Given the description of an element on the screen output the (x, y) to click on. 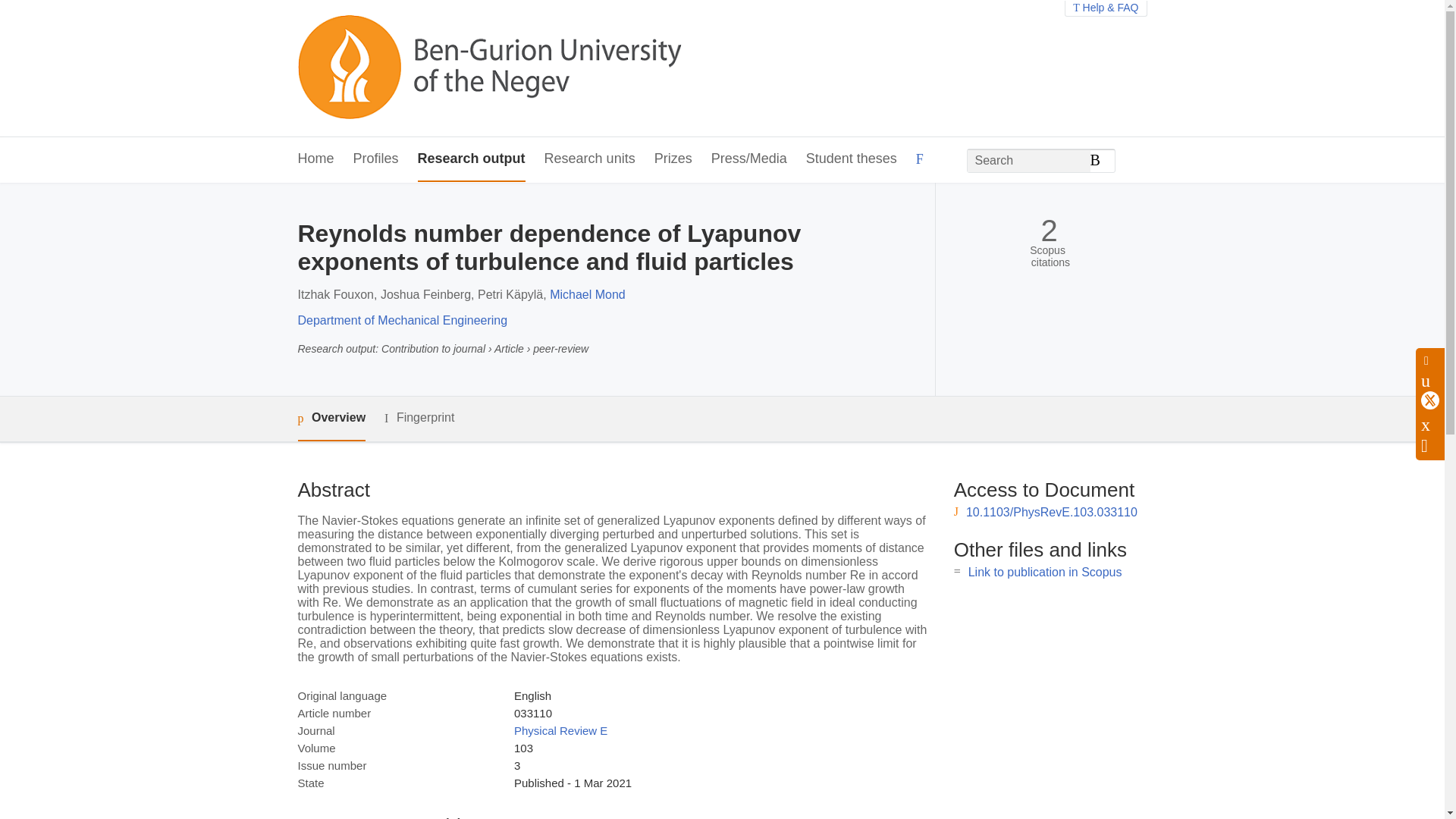
Student theses (851, 159)
Link to publication in Scopus (1045, 571)
Profiles (375, 159)
Ben-Gurion University Research Portal Home (489, 68)
Overview (331, 418)
Research output (471, 159)
Research units (589, 159)
Michael Mond (588, 294)
Physical Review E (560, 730)
